Given the description of an element on the screen output the (x, y) to click on. 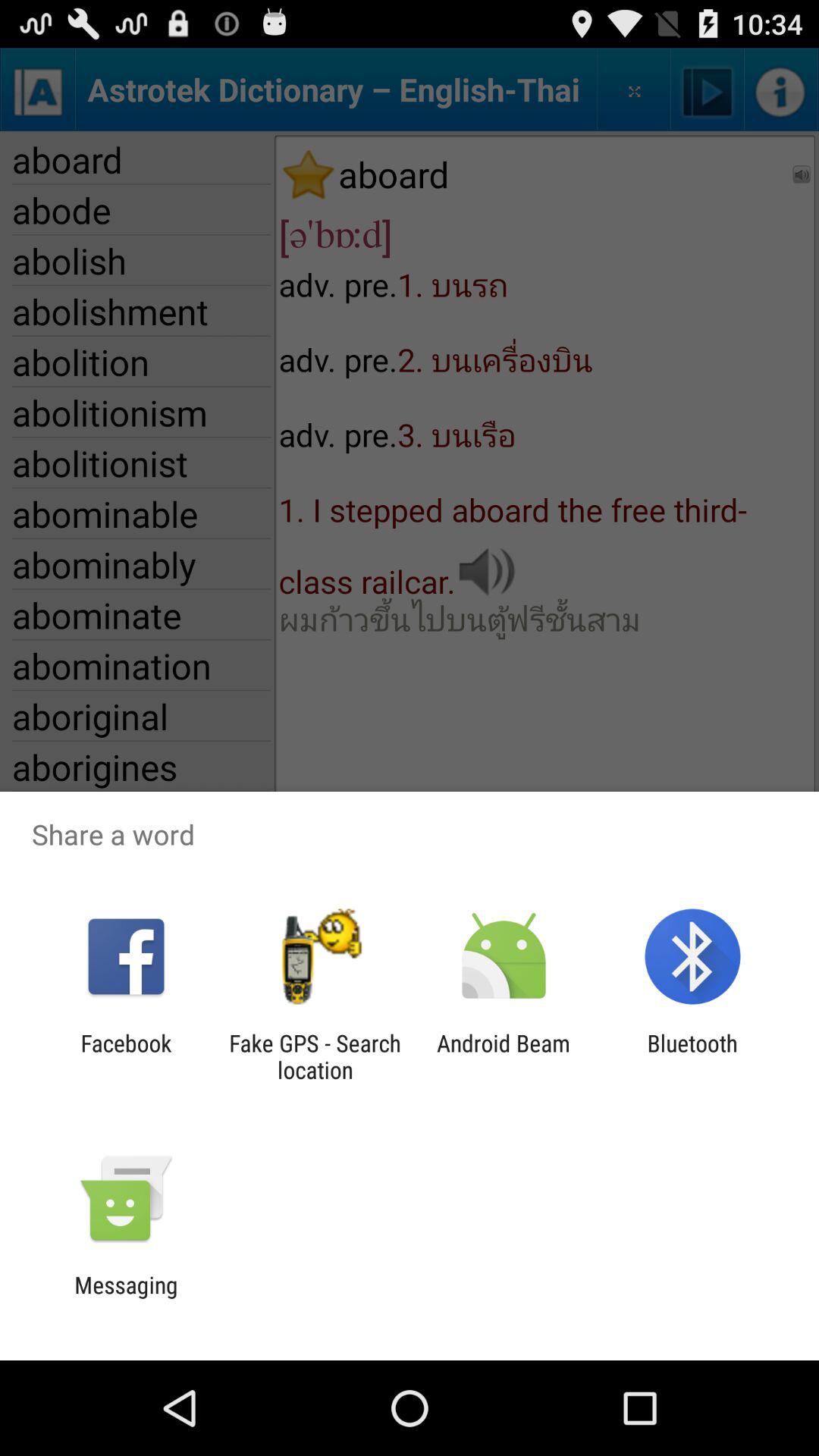
tap app to the right of facebook app (314, 1056)
